Given the description of an element on the screen output the (x, y) to click on. 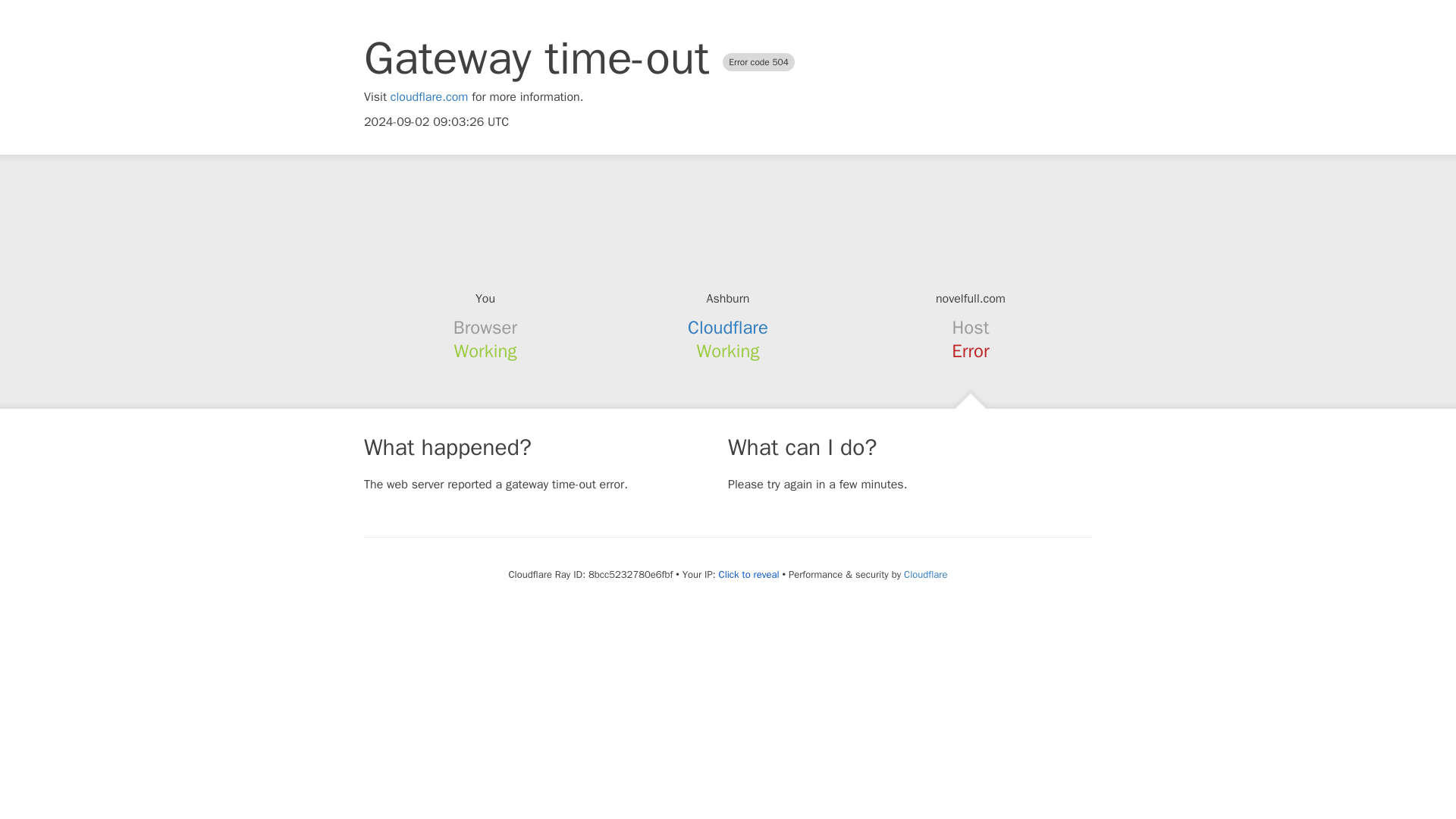
Click to reveal (748, 574)
cloudflare.com (429, 96)
Cloudflare (925, 574)
Cloudflare (727, 327)
